Given the description of an element on the screen output the (x, y) to click on. 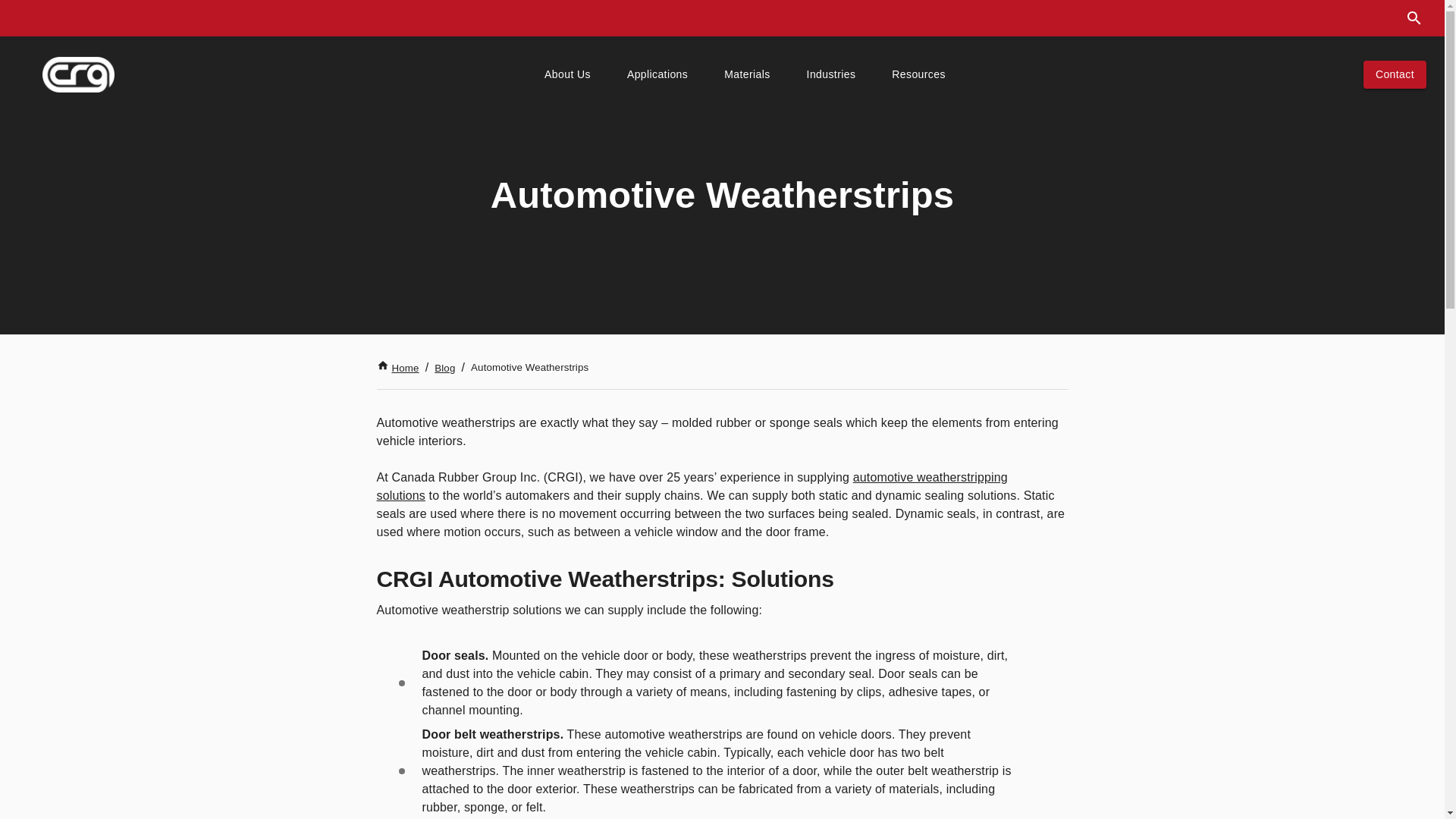
Contact (1394, 74)
Home (397, 367)
About Us (567, 74)
Applications (657, 74)
Industries (830, 74)
Materials (746, 74)
automotive weatherstripping solutions (691, 486)
Blog (443, 367)
Skip to content (23, 24)
Resources (918, 74)
